Given the description of an element on the screen output the (x, y) to click on. 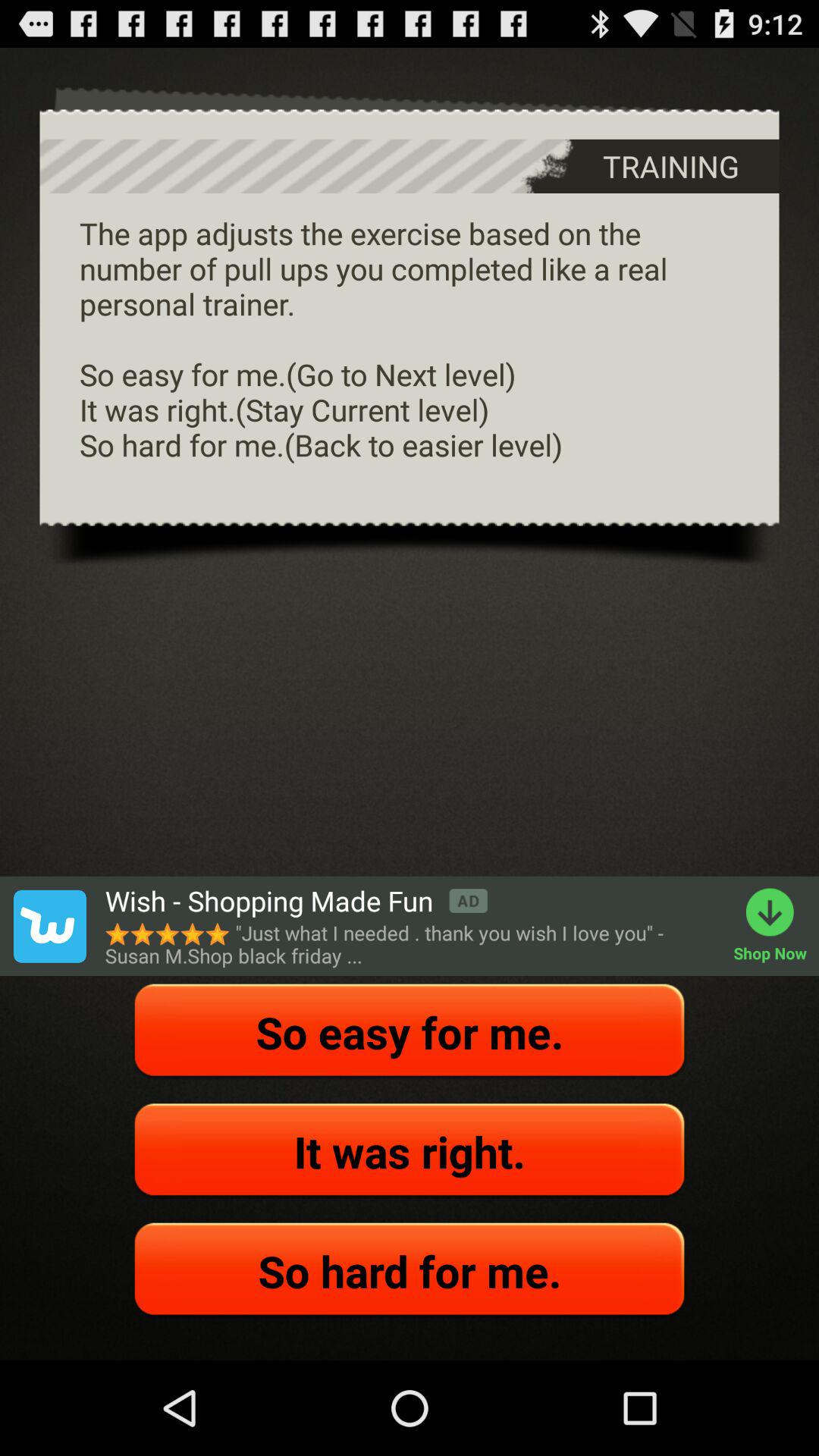
tap the app below the app adjusts icon (296, 900)
